Given the description of an element on the screen output the (x, y) to click on. 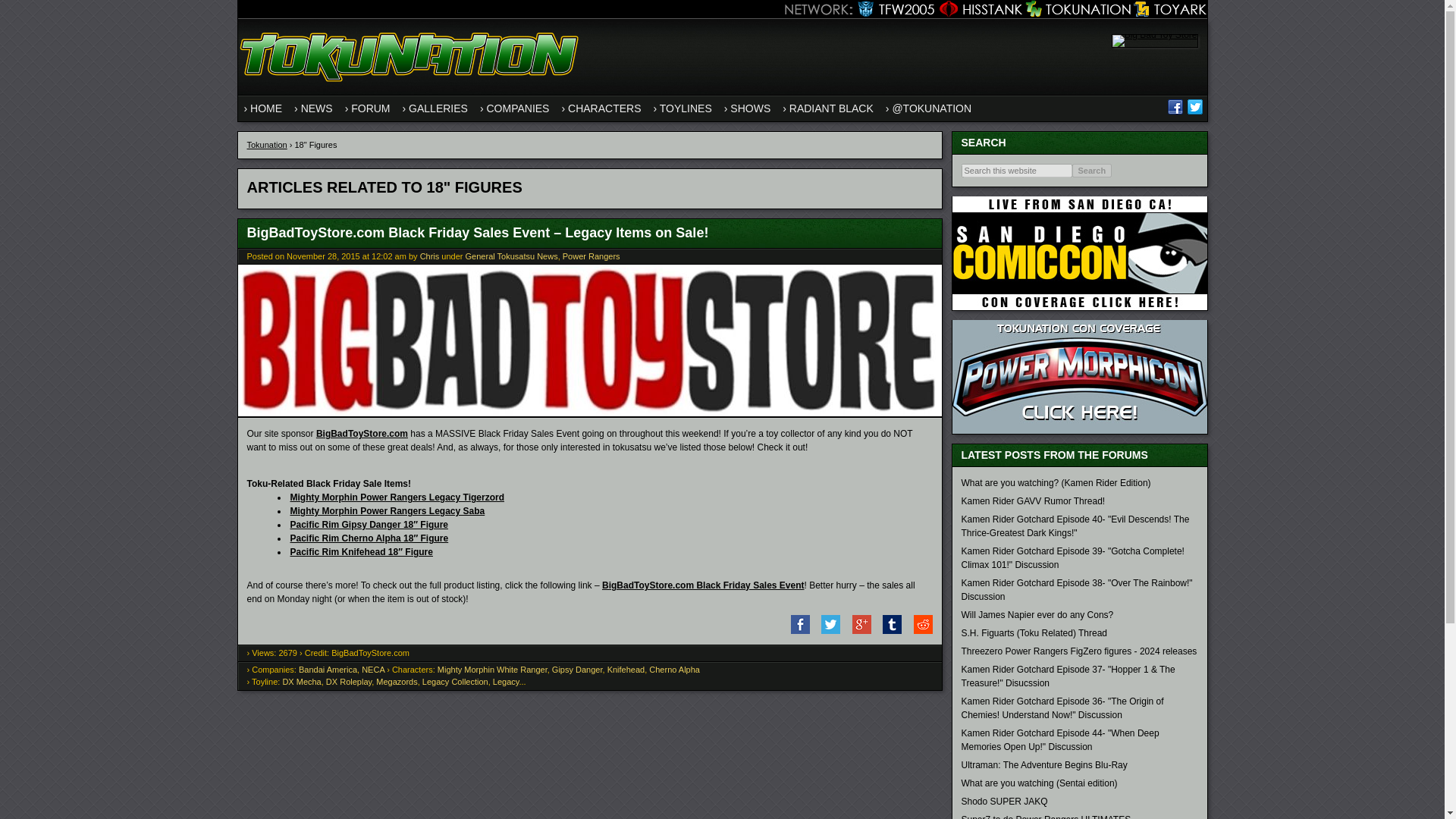
TOYLINES (681, 108)
San Diego Comic Con (1079, 307)
Share with followers on Twitter (826, 630)
Visit Toyark.com for Action Figures and Toys (1169, 9)
Visit HissTank.com for G.I. Joe (978, 9)
GALLERIES (435, 108)
SDCC (1079, 253)
CHARACTERS (600, 108)
Visit TFW2005.com for Transformers (891, 9)
reddit this! (917, 630)
Power Morphicon 2014 (1079, 430)
NEWS (313, 108)
Share with friends on Facebook (795, 630)
Search (1091, 170)
Post to tumblr (887, 630)
